Given the description of an element on the screen output the (x, y) to click on. 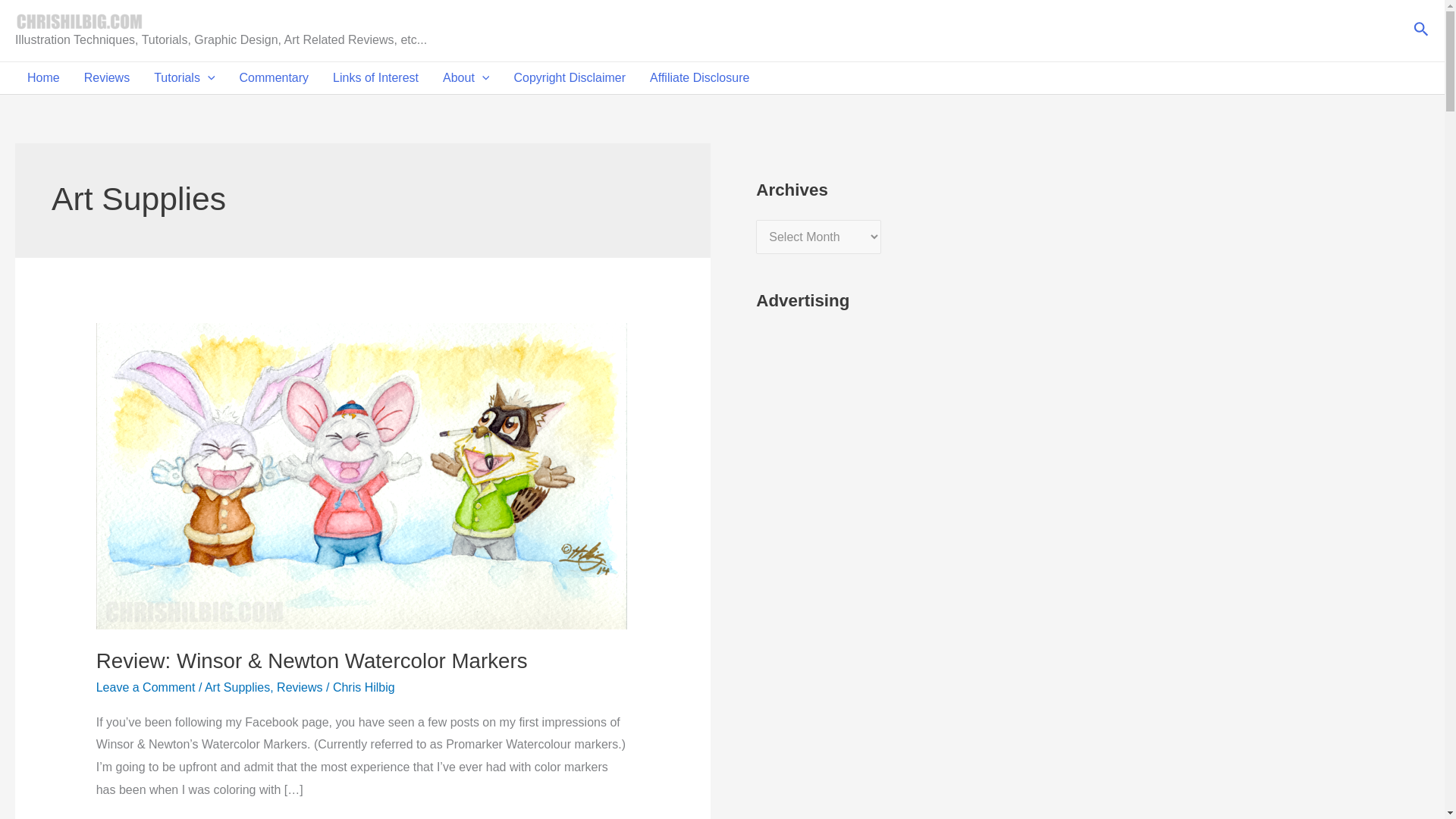
Affiliate Disclosure (699, 78)
Links of Interest (375, 78)
Reviews (106, 78)
Commentary (274, 78)
View all posts by Chris Hilbig (363, 686)
Copyright Disclaimer (568, 78)
About (465, 78)
Tutorials (184, 78)
Home (42, 78)
